Given the description of an element on the screen output the (x, y) to click on. 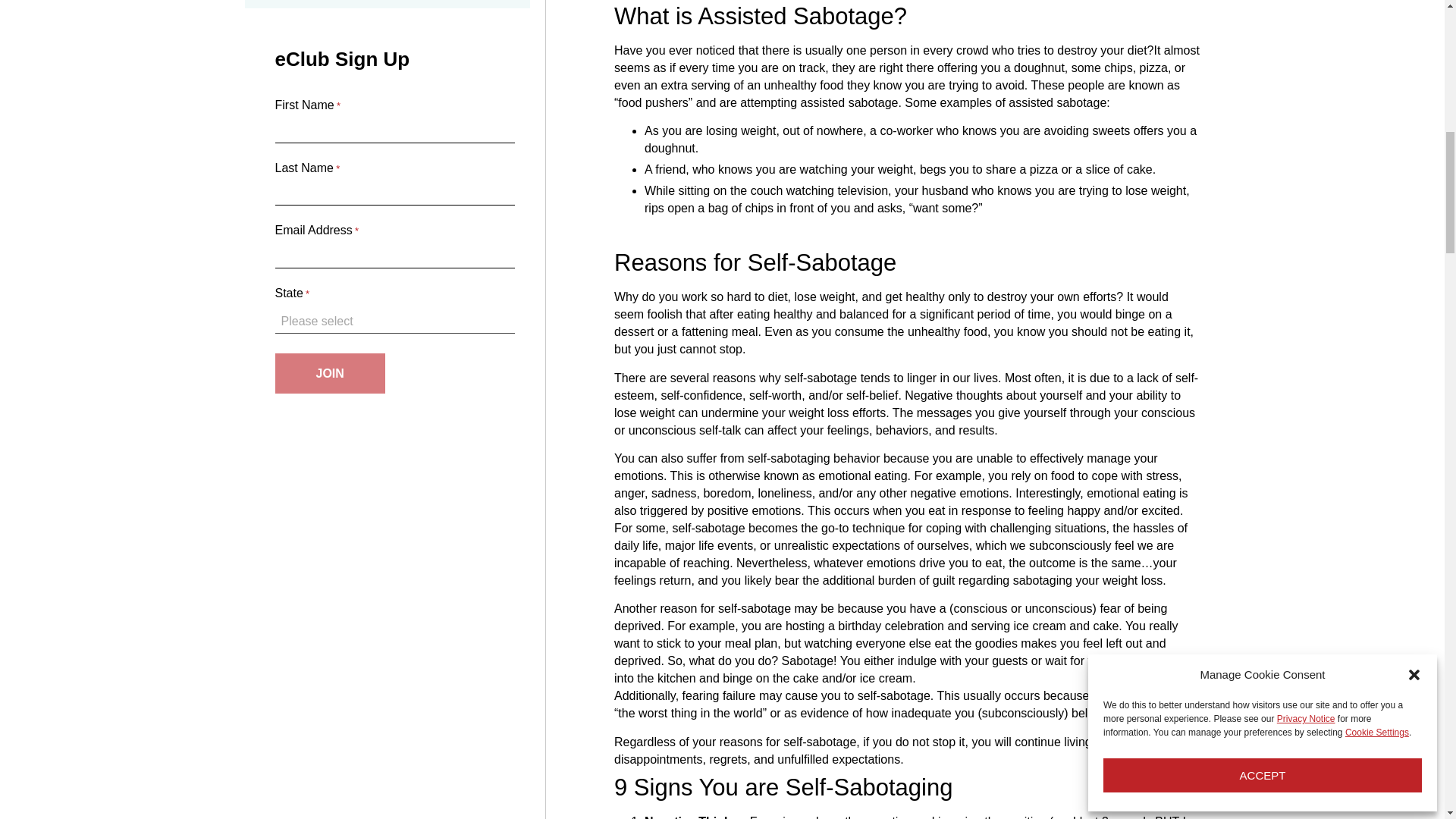
Page 1 (906, 182)
Page 1 (906, 141)
Join (329, 372)
